Given the description of an element on the screen output the (x, y) to click on. 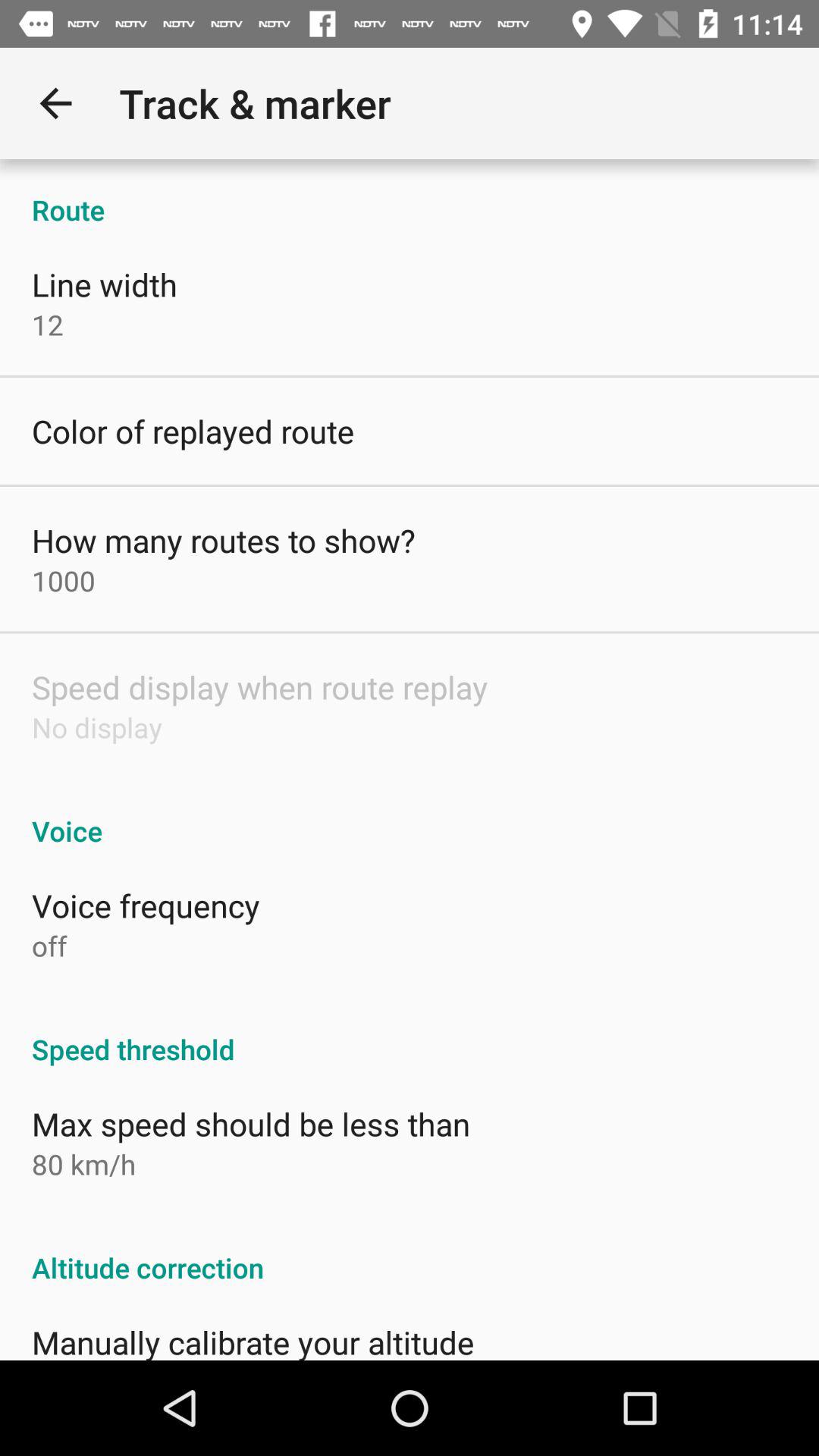
click the item below 1000 icon (259, 686)
